Given the description of an element on the screen output the (x, y) to click on. 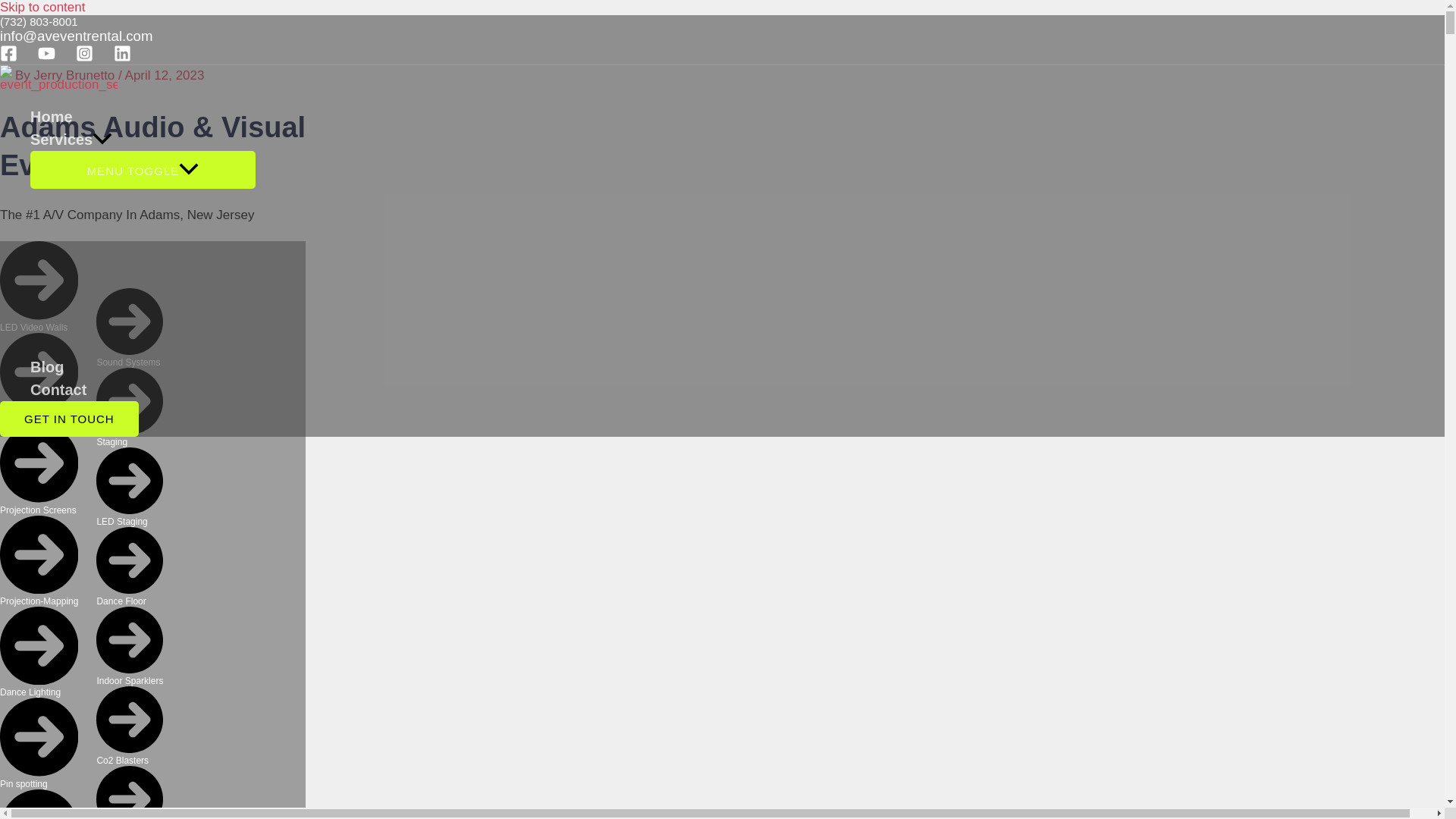
MENU TOGGLE (143, 169)
Contact (143, 389)
Blog (143, 366)
Home (143, 116)
Skip to content (42, 7)
Skip to content (42, 7)
Jerry Brunetto (76, 74)
GET IN TOUCH (69, 418)
View all posts by Jerry Brunetto (76, 74)
Services (143, 138)
